Given the description of an element on the screen output the (x, y) to click on. 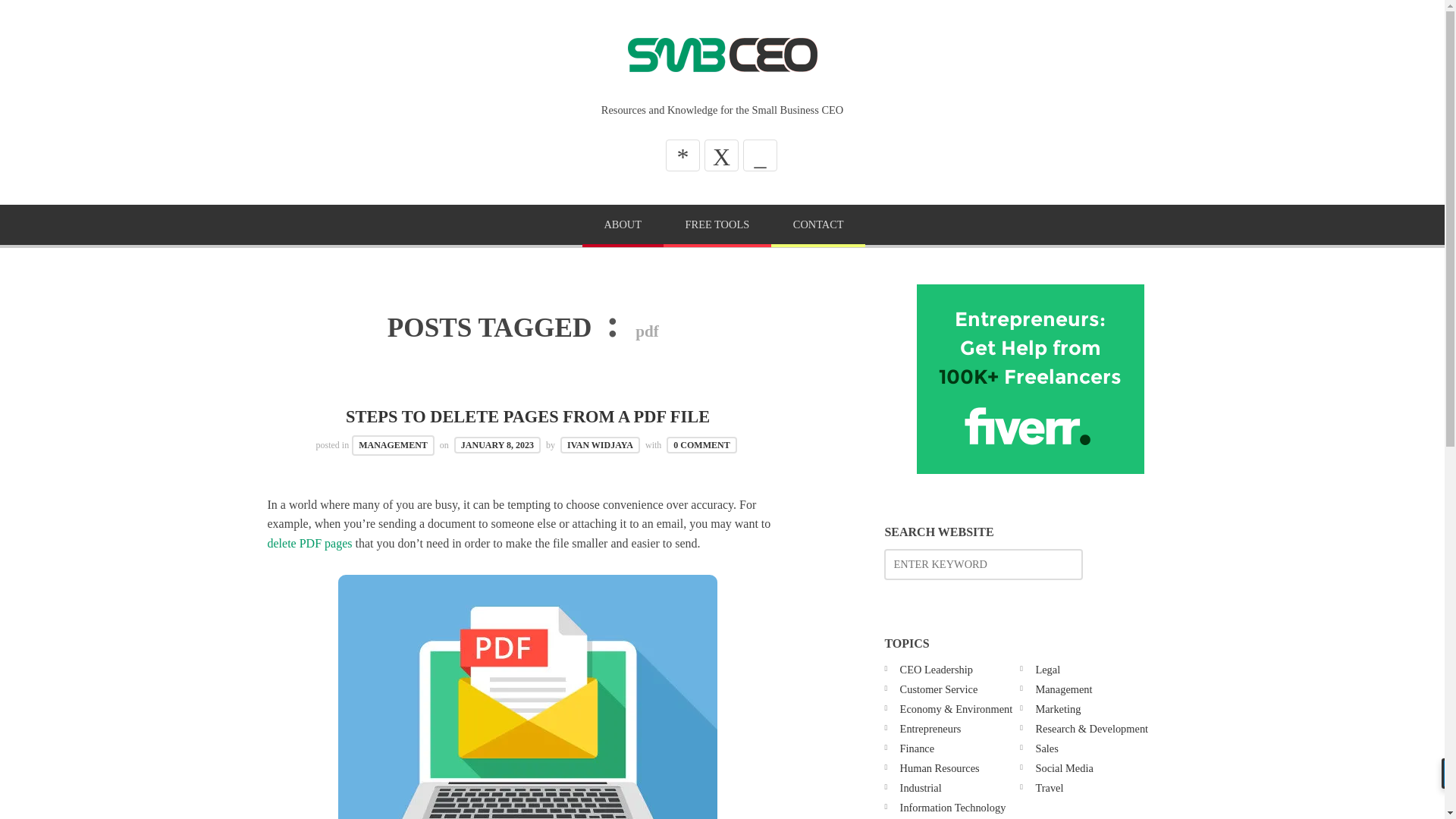
delete PDF pages (309, 543)
FREE TOOLS (717, 225)
Information Technology (952, 807)
CONTACT (817, 225)
Customer Service (938, 689)
STEPS TO DELETE PAGES FROM A PDF FILE (528, 416)
Travel (1048, 787)
Sales (1046, 748)
MANAGEMENT (392, 444)
Marketing (1057, 708)
Human Resources (939, 767)
X (721, 155)
Management (1063, 689)
Social Media (1064, 767)
CEO Leadership (935, 669)
